Given the description of an element on the screen output the (x, y) to click on. 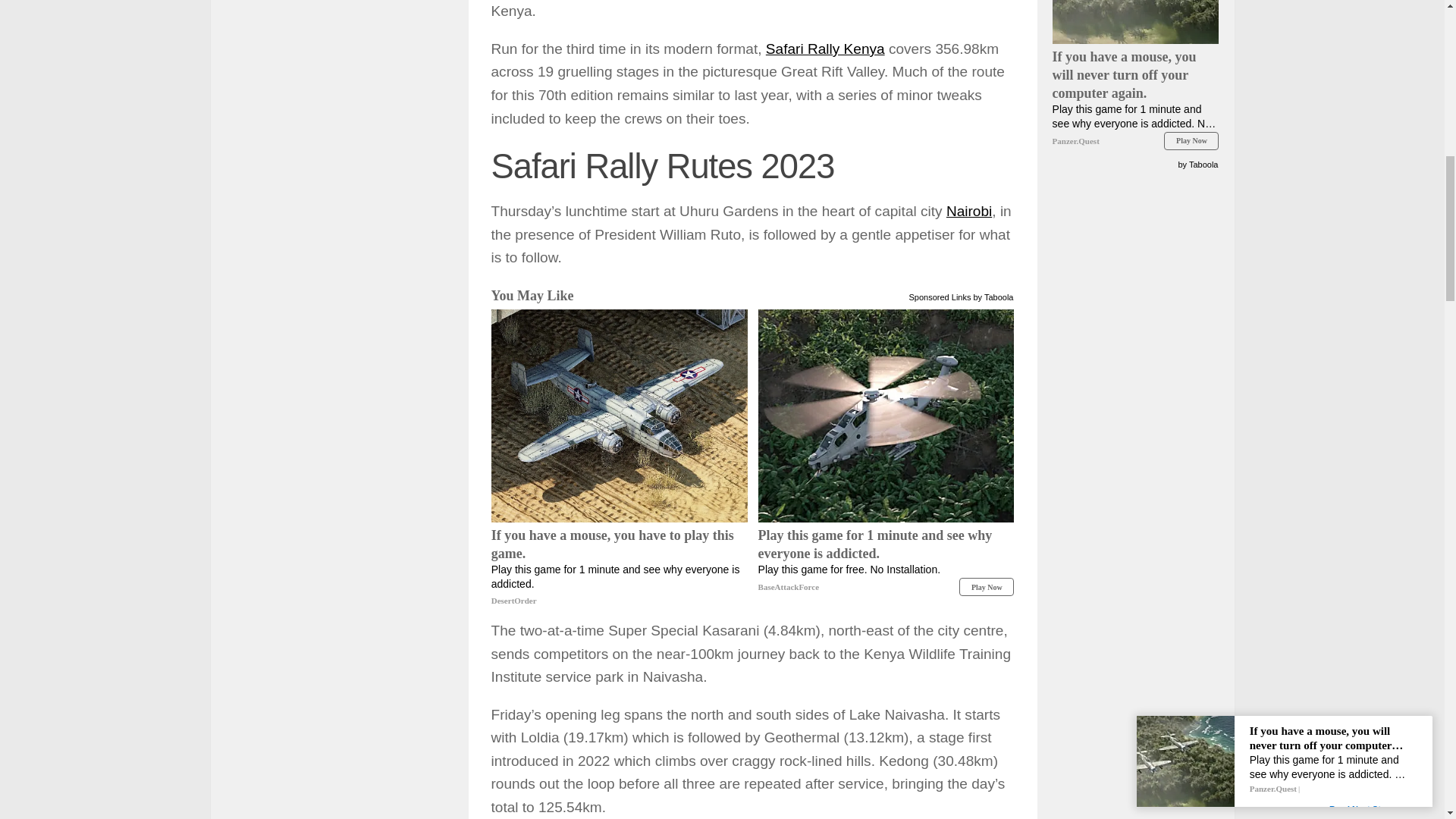
Safari Rally Kenya (825, 48)
